Given the description of an element on the screen output the (x, y) to click on. 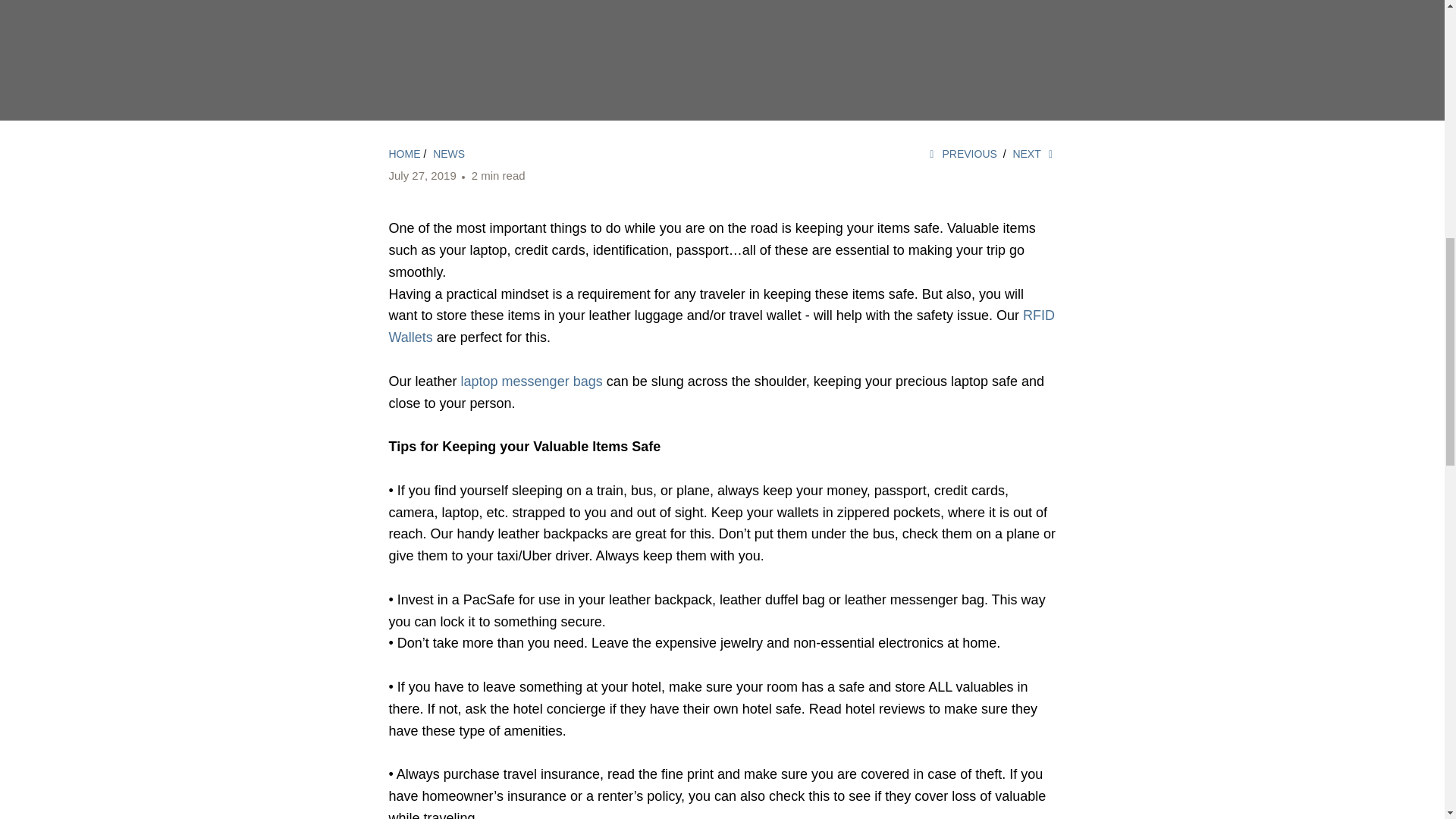
RFID wallets (721, 325)
News (448, 153)
Bayfield Bags  (404, 153)
laptop messenger bags (531, 381)
